Given the description of an element on the screen output the (x, y) to click on. 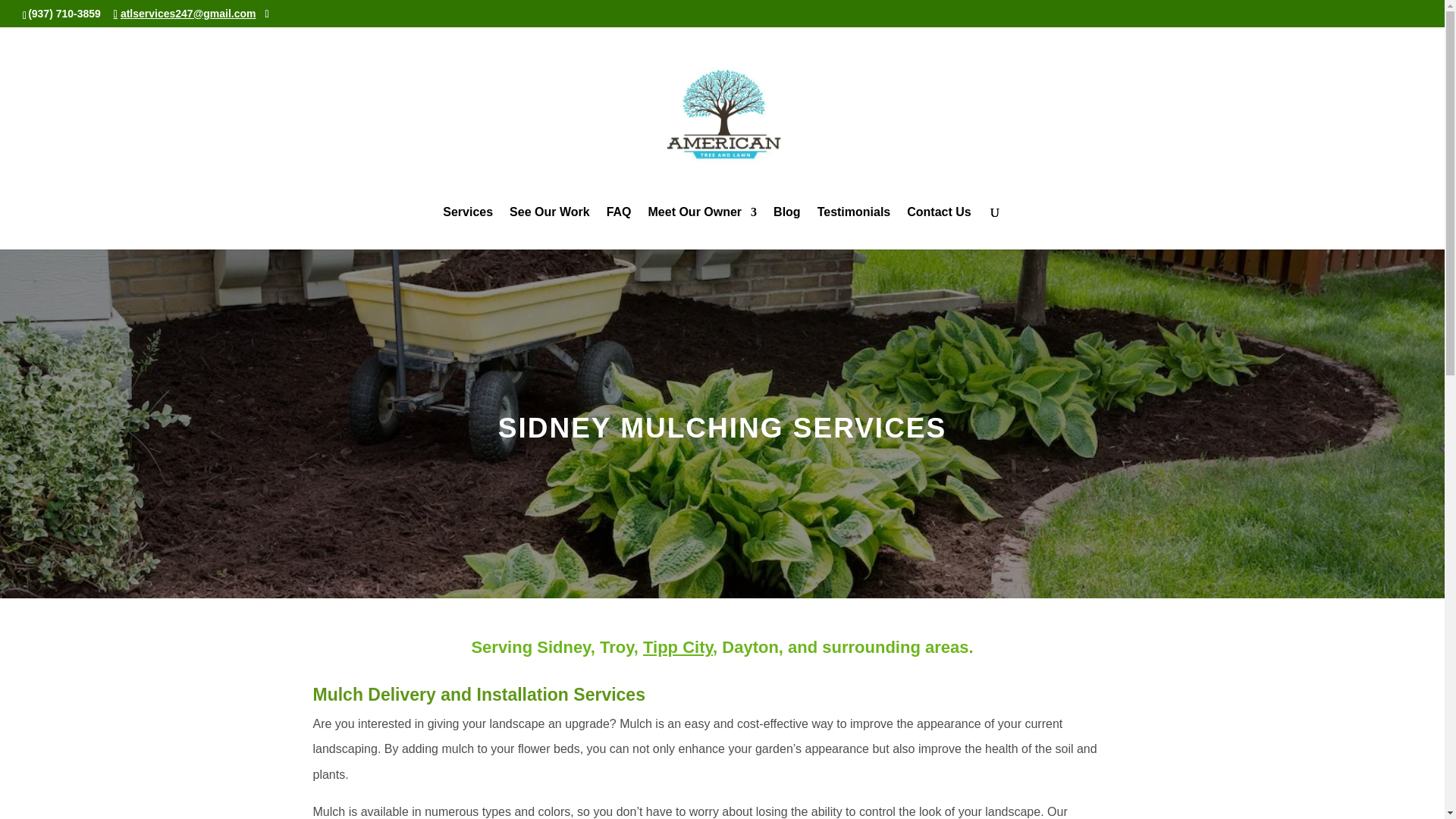
See Our Work (549, 228)
Services (467, 228)
Contact Us (939, 228)
Meet Our Owner (702, 228)
Tipp City (678, 647)
Testimonials (853, 228)
